Given the description of an element on the screen output the (x, y) to click on. 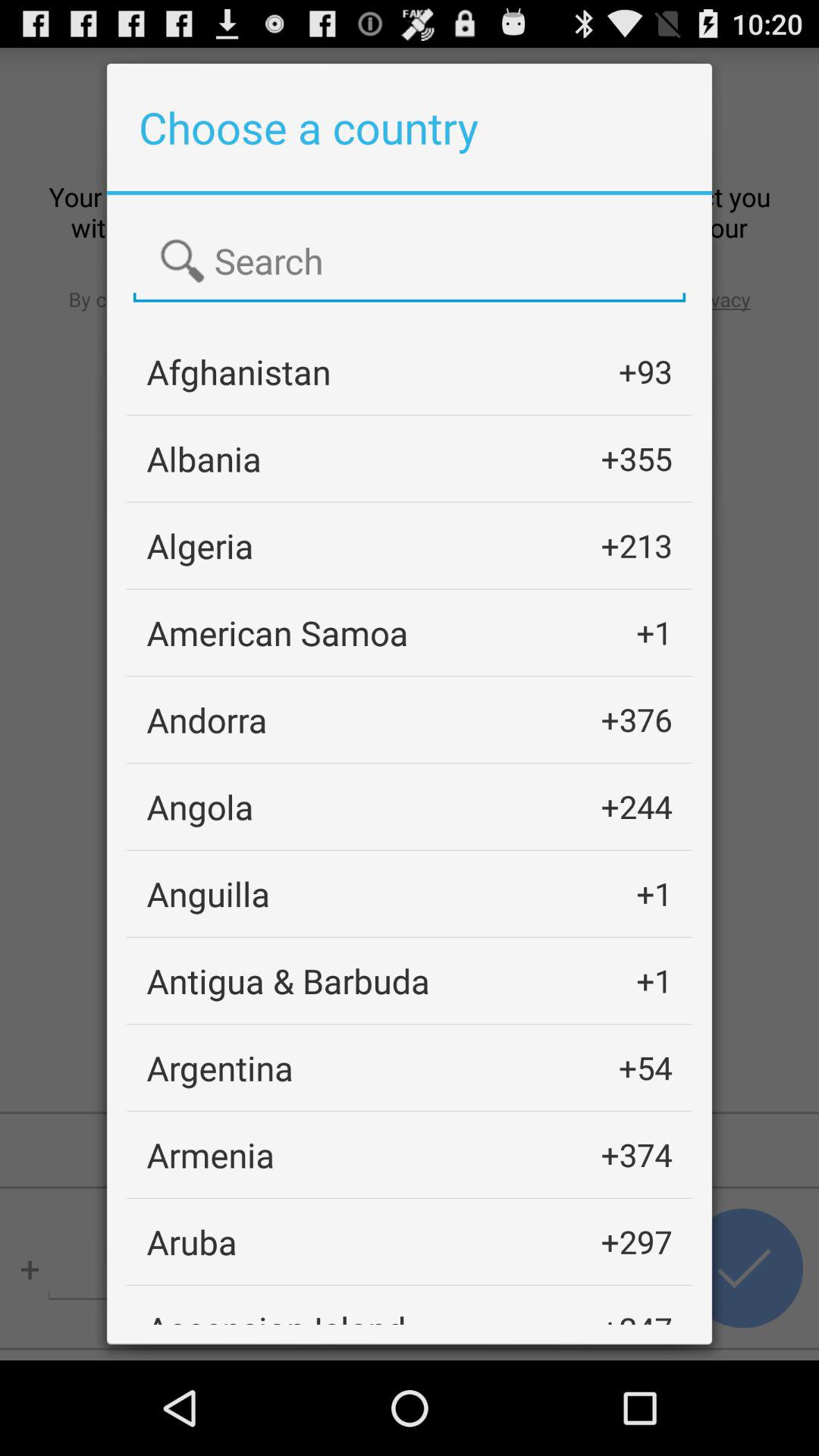
press the app above the +1 icon (636, 806)
